Given the description of an element on the screen output the (x, y) to click on. 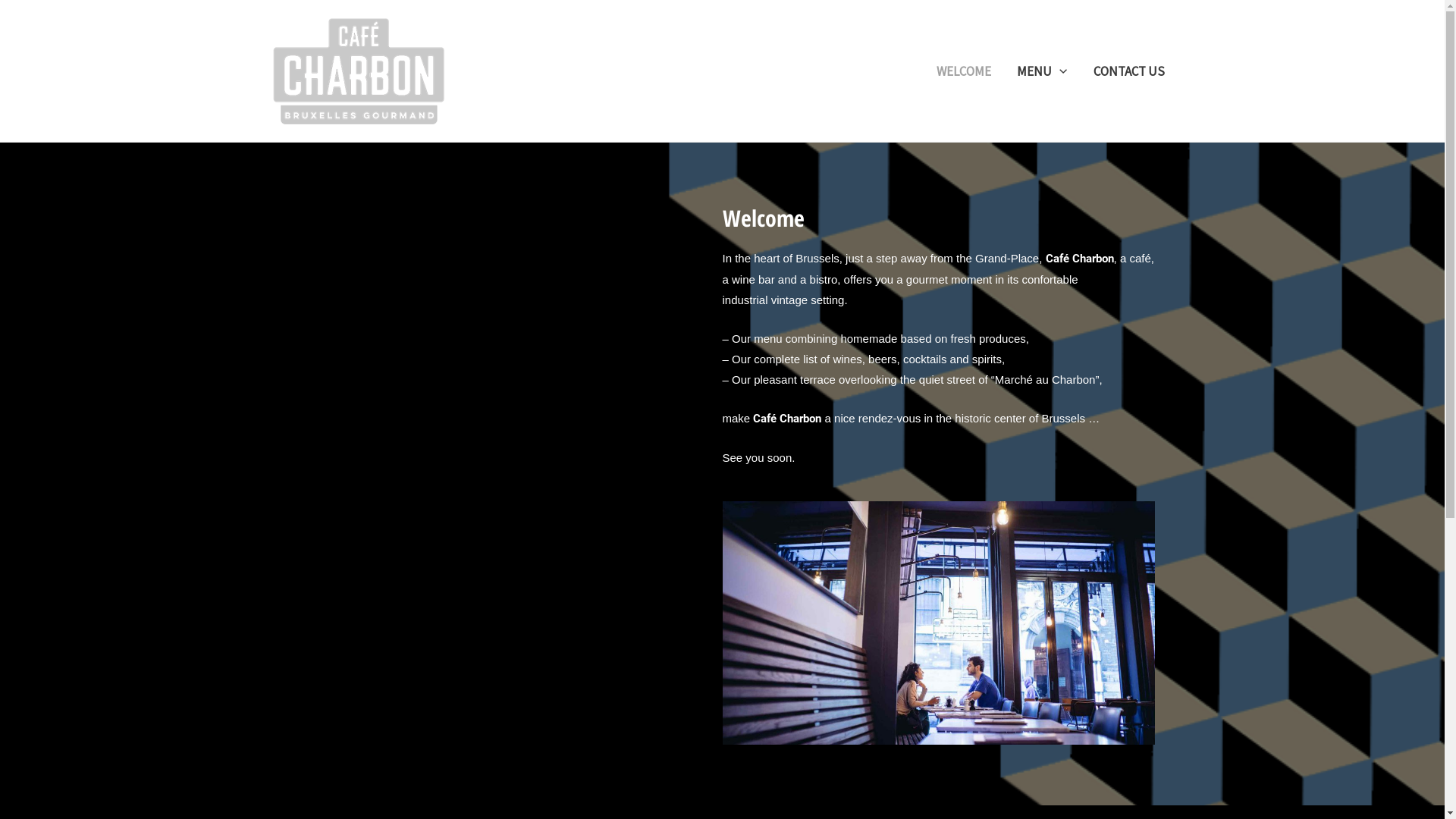
WELCOME Element type: text (963, 70)
CONTACT US Element type: text (1127, 70)
MENU Element type: text (1041, 70)
